Given the description of an element on the screen output the (x, y) to click on. 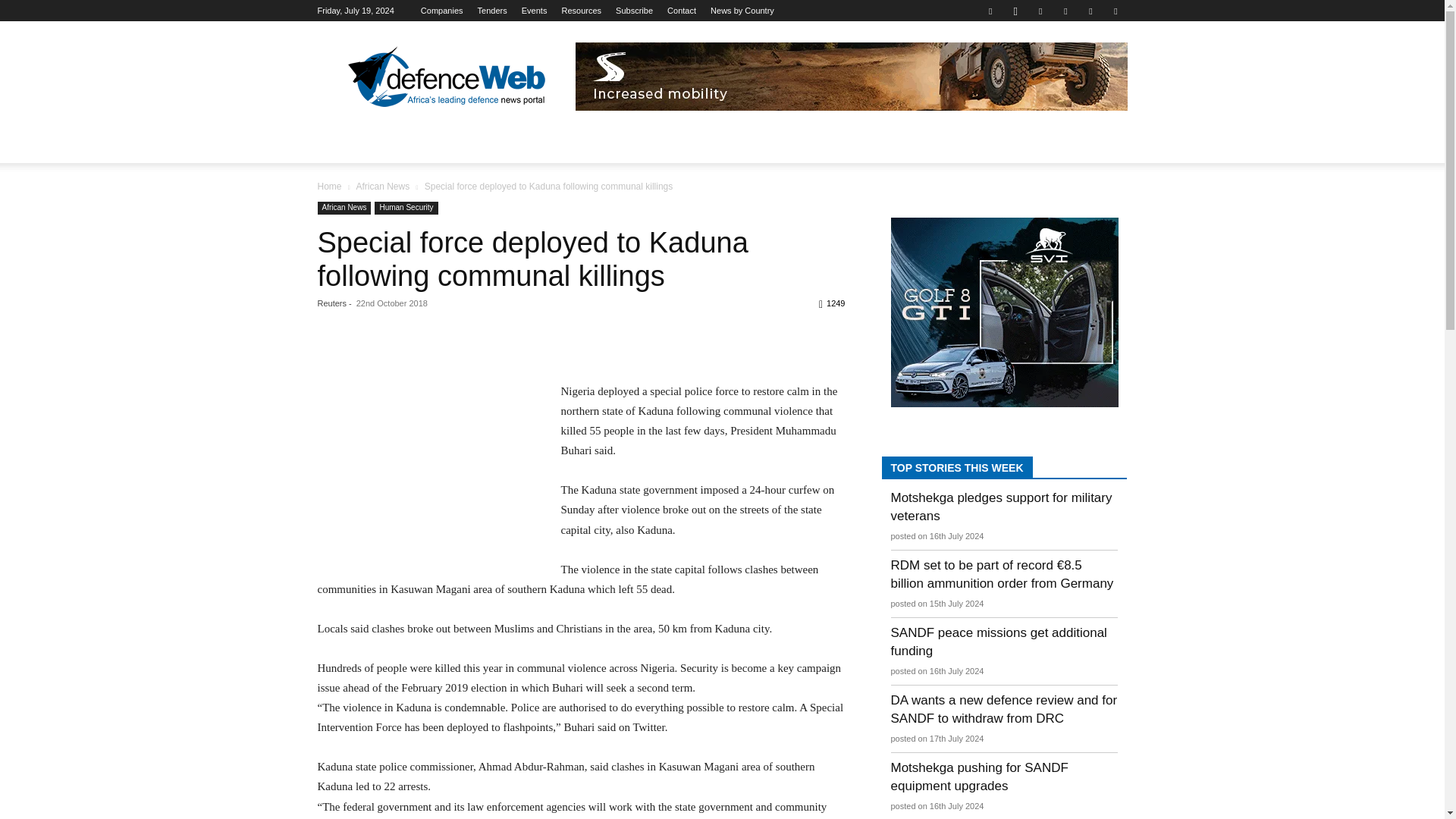
Youtube (1114, 10)
Twitter (1090, 10)
Mail (1065, 10)
Linkedin (1040, 10)
Facebook (989, 10)
Instagram (1015, 10)
